Given the description of an element on the screen output the (x, y) to click on. 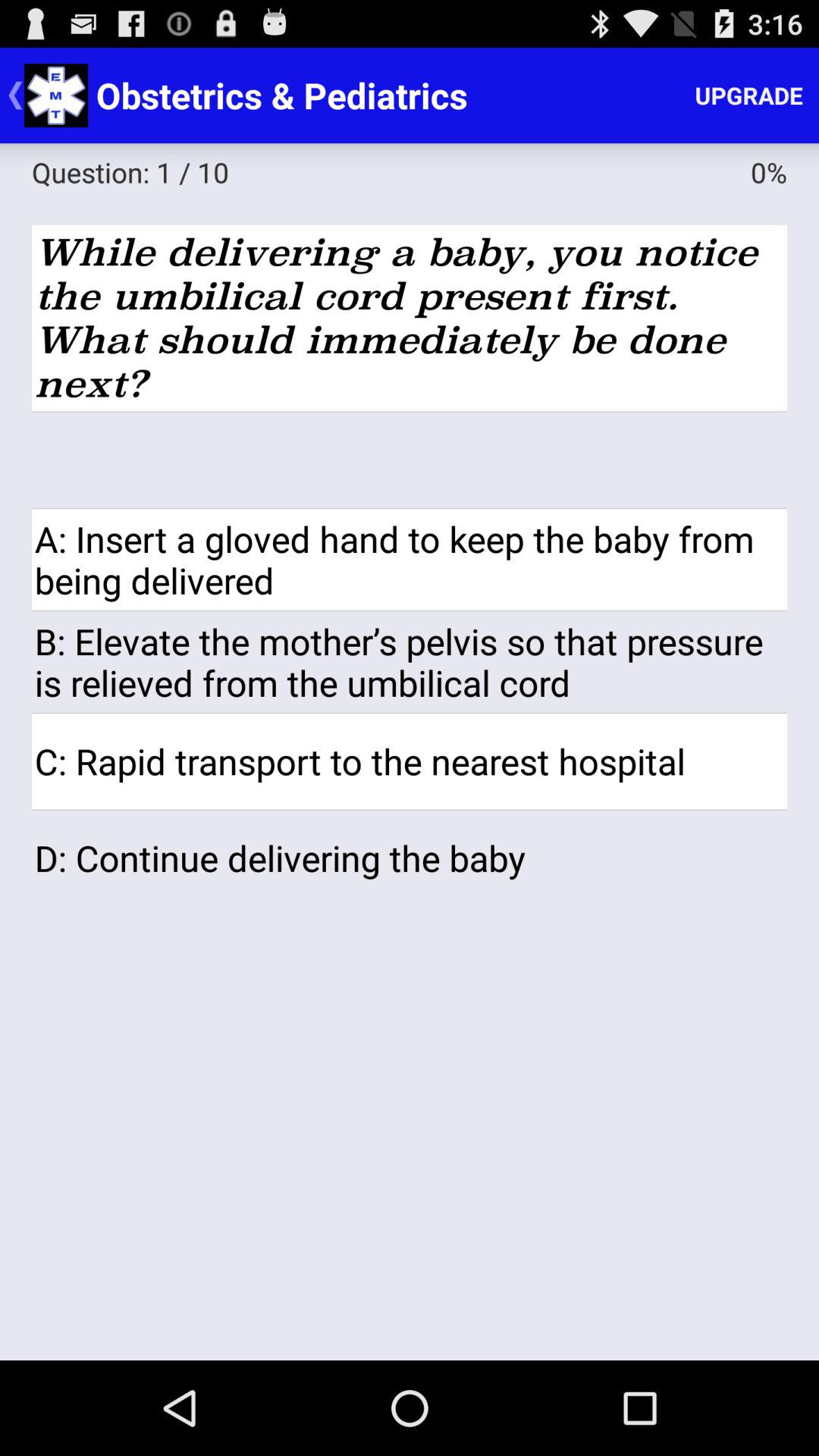
select app above b elevate the icon (409, 559)
